Given the description of an element on the screen output the (x, y) to click on. 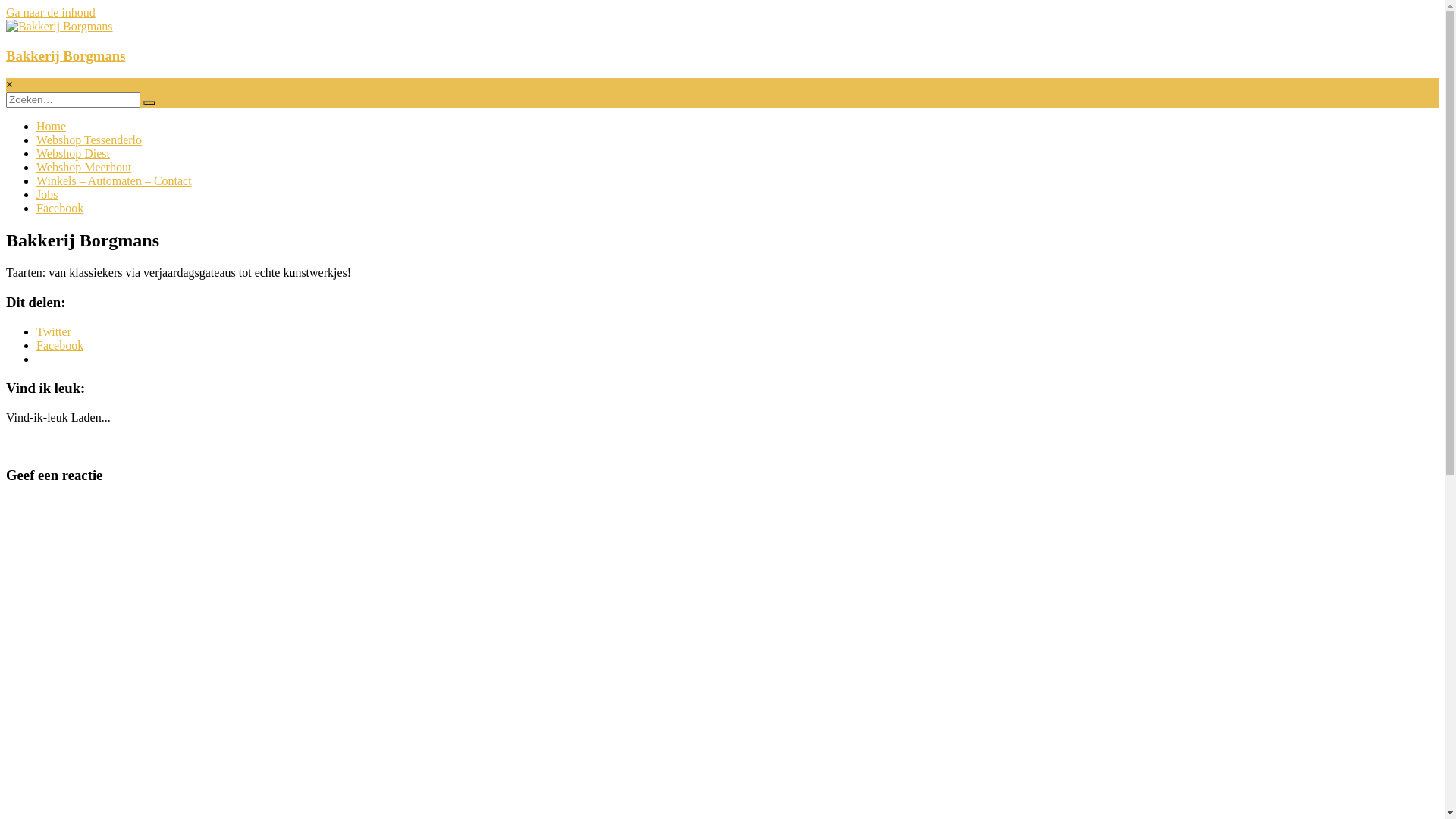
Webshop Tessenderlo Element type: text (88, 139)
Facebook Element type: text (59, 207)
Home Element type: text (50, 125)
Ga naar de inhoud Element type: text (50, 12)
Jobs Element type: text (46, 194)
Facebook Element type: text (59, 344)
Twitter Element type: text (53, 331)
Bakkerij Borgmans Element type: text (65, 55)
Webshop Meerhout Element type: text (83, 166)
Webshop Diest Element type: text (72, 153)
Zoeken Element type: text (149, 102)
